Given the description of an element on the screen output the (x, y) to click on. 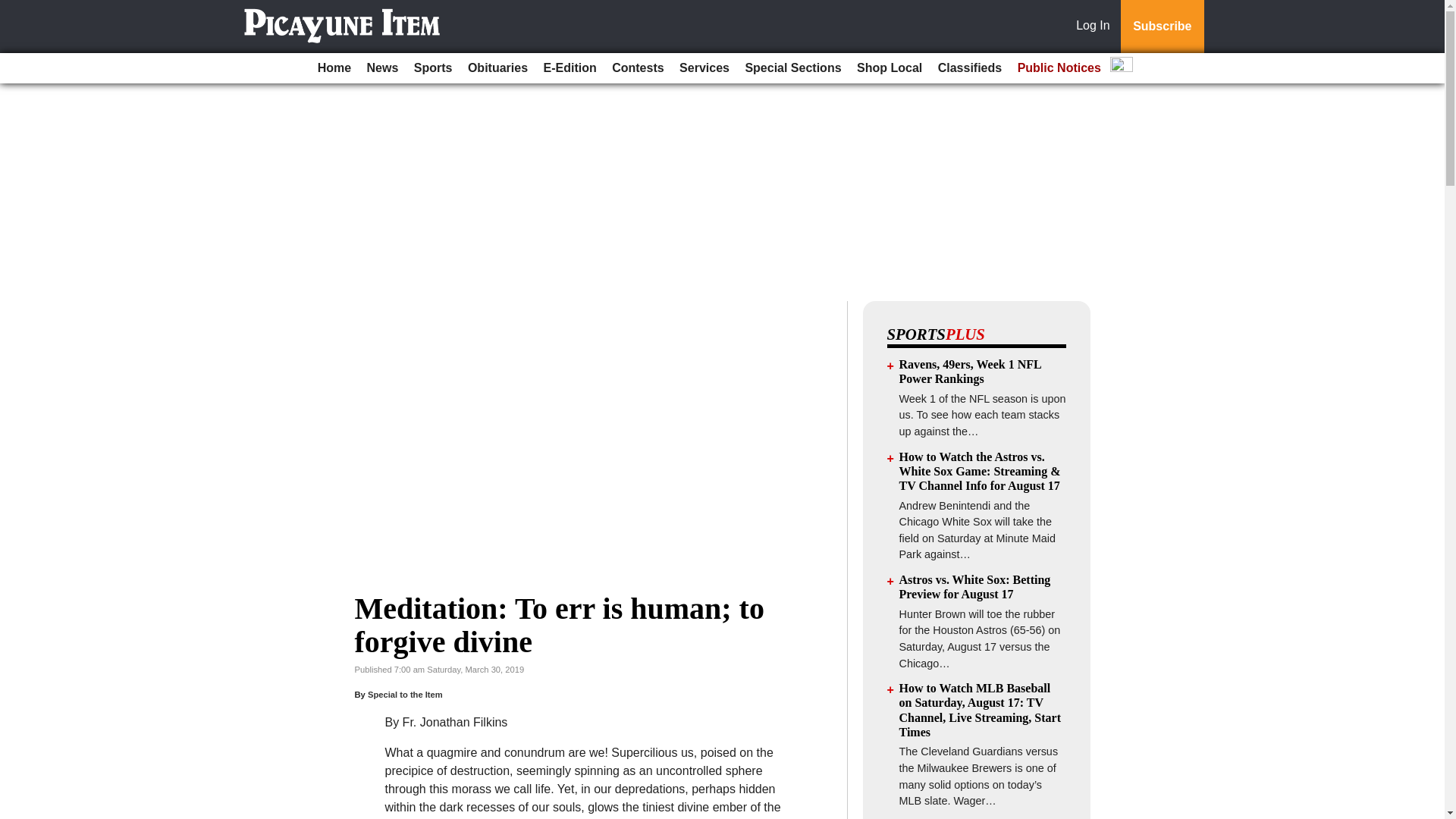
Sports (432, 68)
Special to the Item (405, 694)
Home (333, 68)
E-Edition (569, 68)
Astros vs. White Sox: Betting Preview for August 17 (975, 586)
Special Sections (792, 68)
Go (13, 9)
Classifieds (969, 68)
Services (703, 68)
Public Notices (1058, 68)
